Given the description of an element on the screen output the (x, y) to click on. 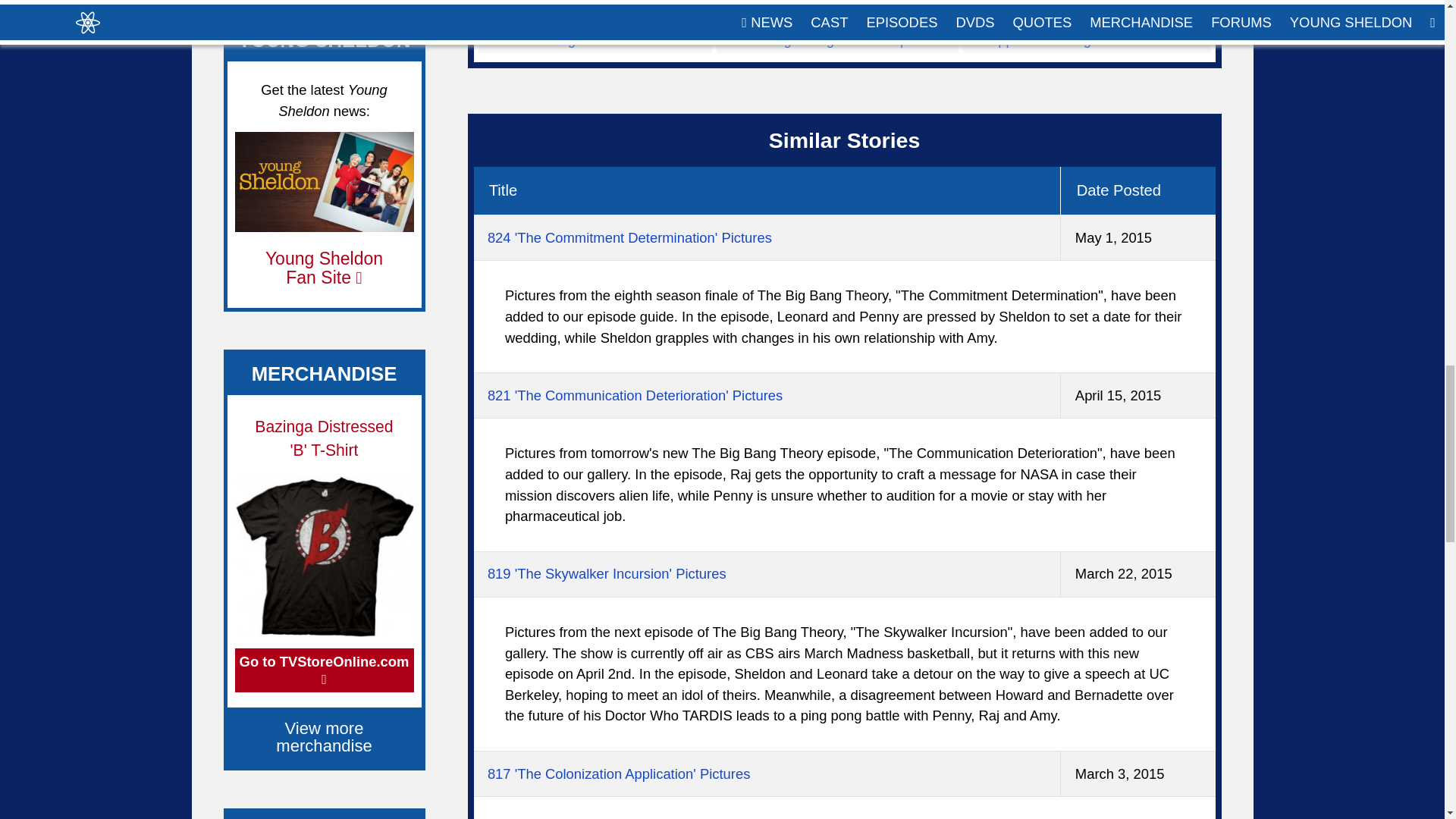
Young Sheldon Fan Site  (323, 267)
View more merchandise (324, 736)
Bazinga Distressed 'B' T-Shirt (323, 438)
Go to TVStoreOnline.com (323, 670)
